Given the description of an element on the screen output the (x, y) to click on. 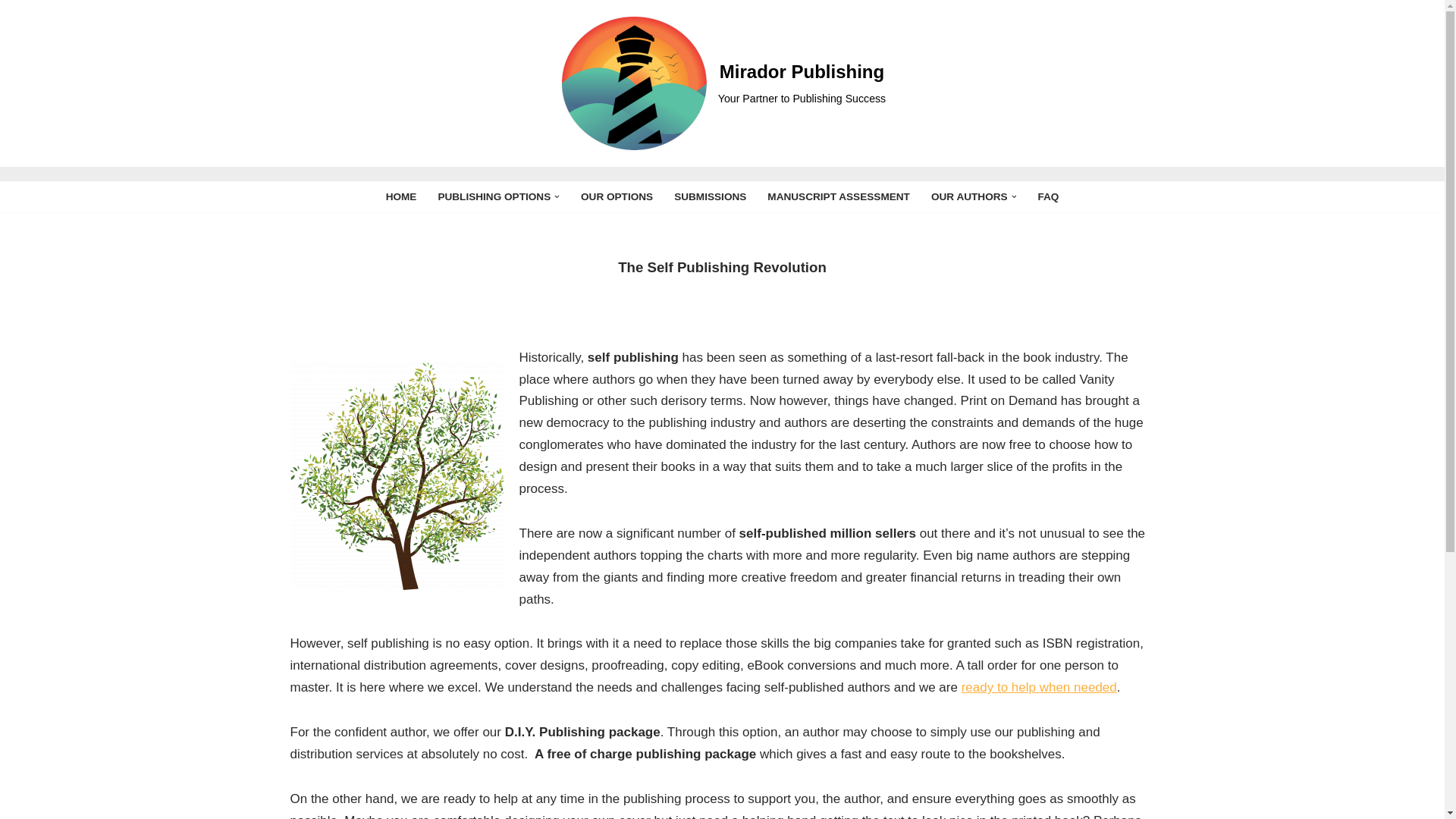
OUR OPTIONS (616, 196)
ready to help when needed (1038, 687)
HOME (400, 196)
SUBMISSIONS (709, 196)
FAQ (1047, 196)
Skip to content (11, 31)
PUBLISHING OPTIONS (494, 196)
OUR AUTHORS (969, 196)
MANUSCRIPT ASSESSMENT (838, 196)
Working for New Authors (400, 196)
